Given the description of an element on the screen output the (x, y) to click on. 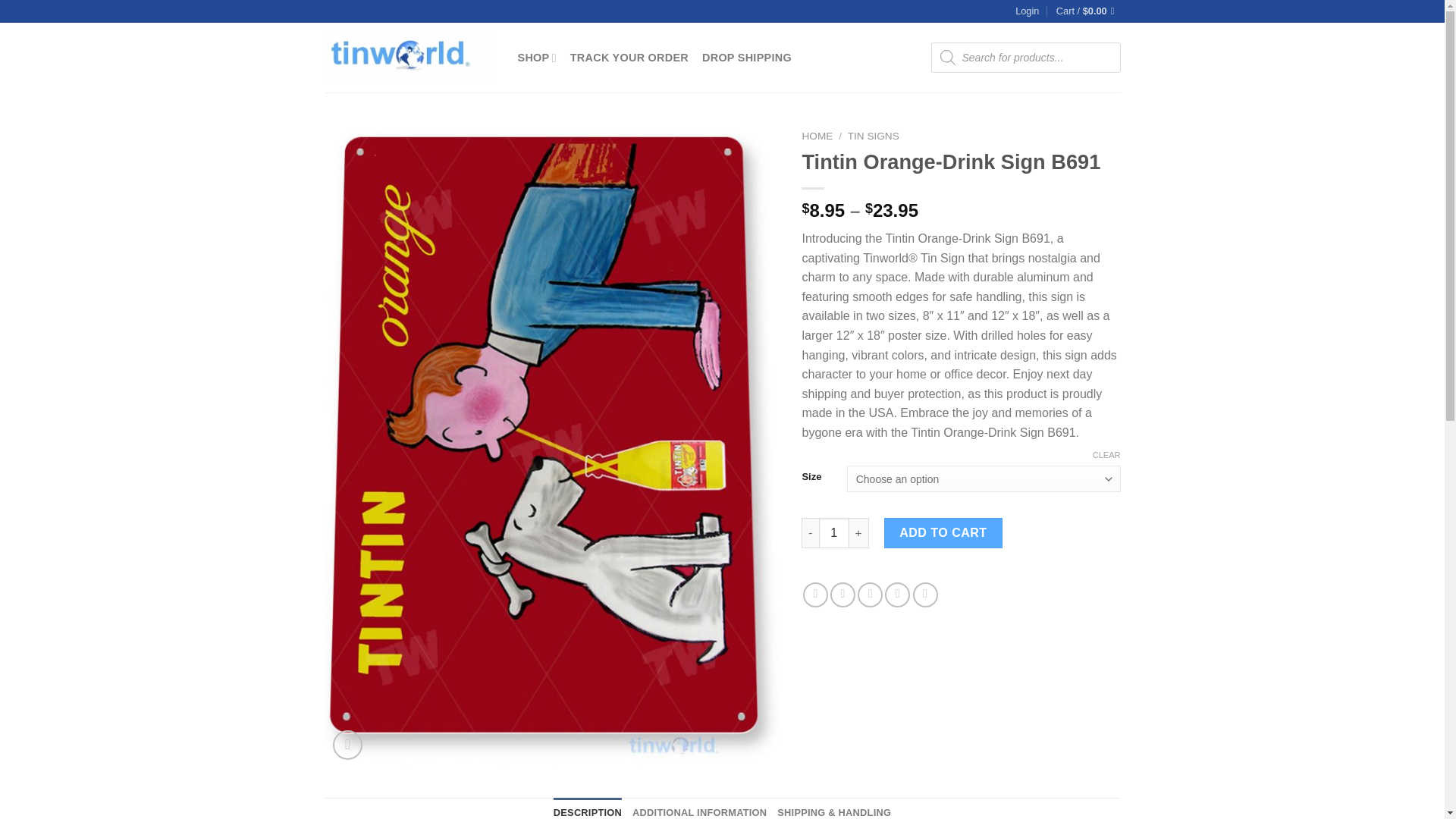
Cart (1089, 11)
TRACK YOUR ORDER (629, 57)
Share on Facebook (815, 594)
1 (833, 532)
Email to a Friend (869, 594)
SHOP (536, 57)
Zoom (347, 745)
Share on LinkedIn (924, 594)
DROP SHIPPING (746, 57)
Pin on Pinterest (897, 594)
Login (1026, 11)
Share on Twitter (842, 594)
TinWorld - Collectible signs at competitive prices (409, 57)
Qty (833, 532)
